Given the description of an element on the screen output the (x, y) to click on. 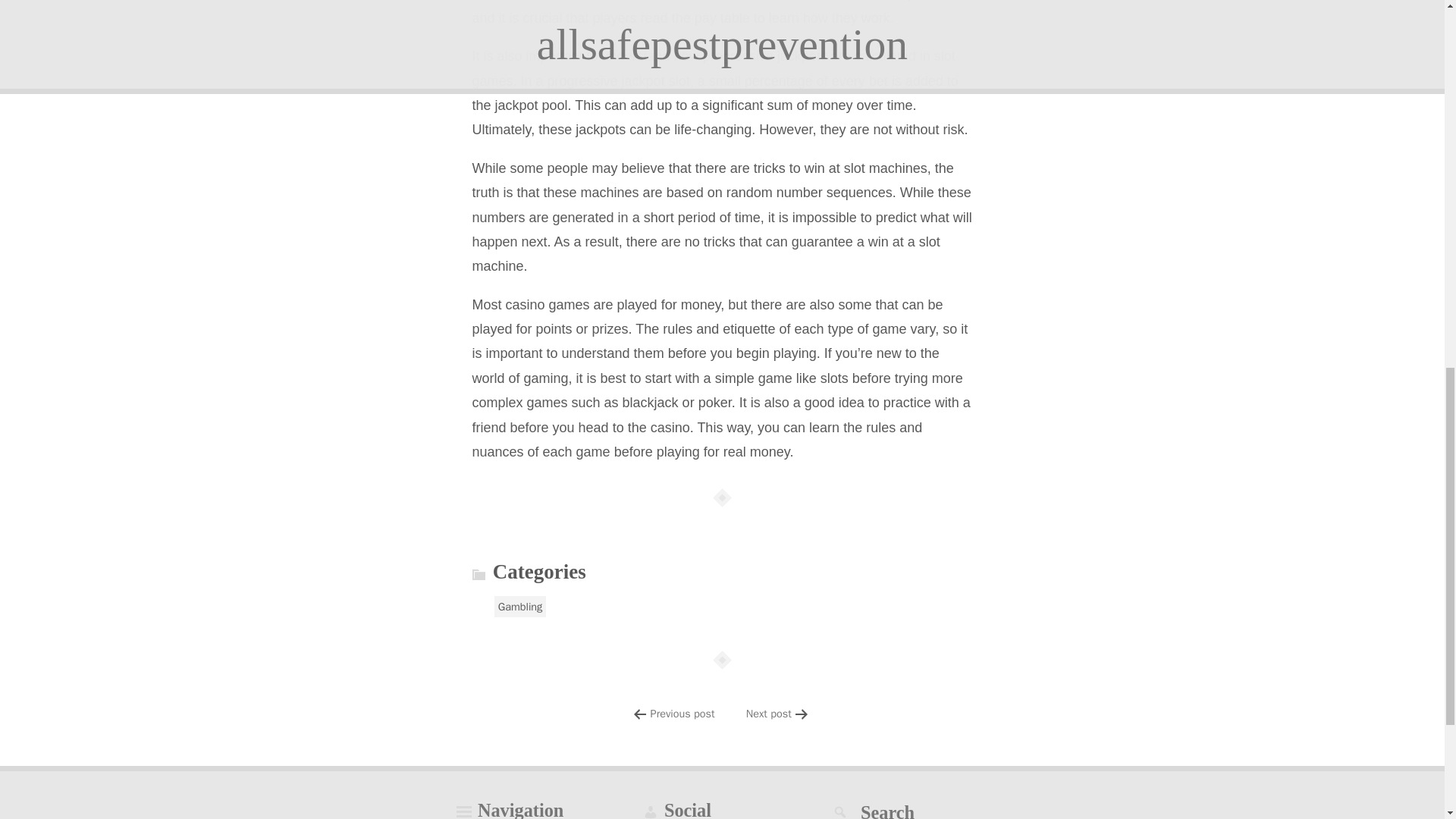
Next post (768, 713)
Gambling (521, 606)
Previous post (682, 713)
